Given the description of an element on the screen output the (x, y) to click on. 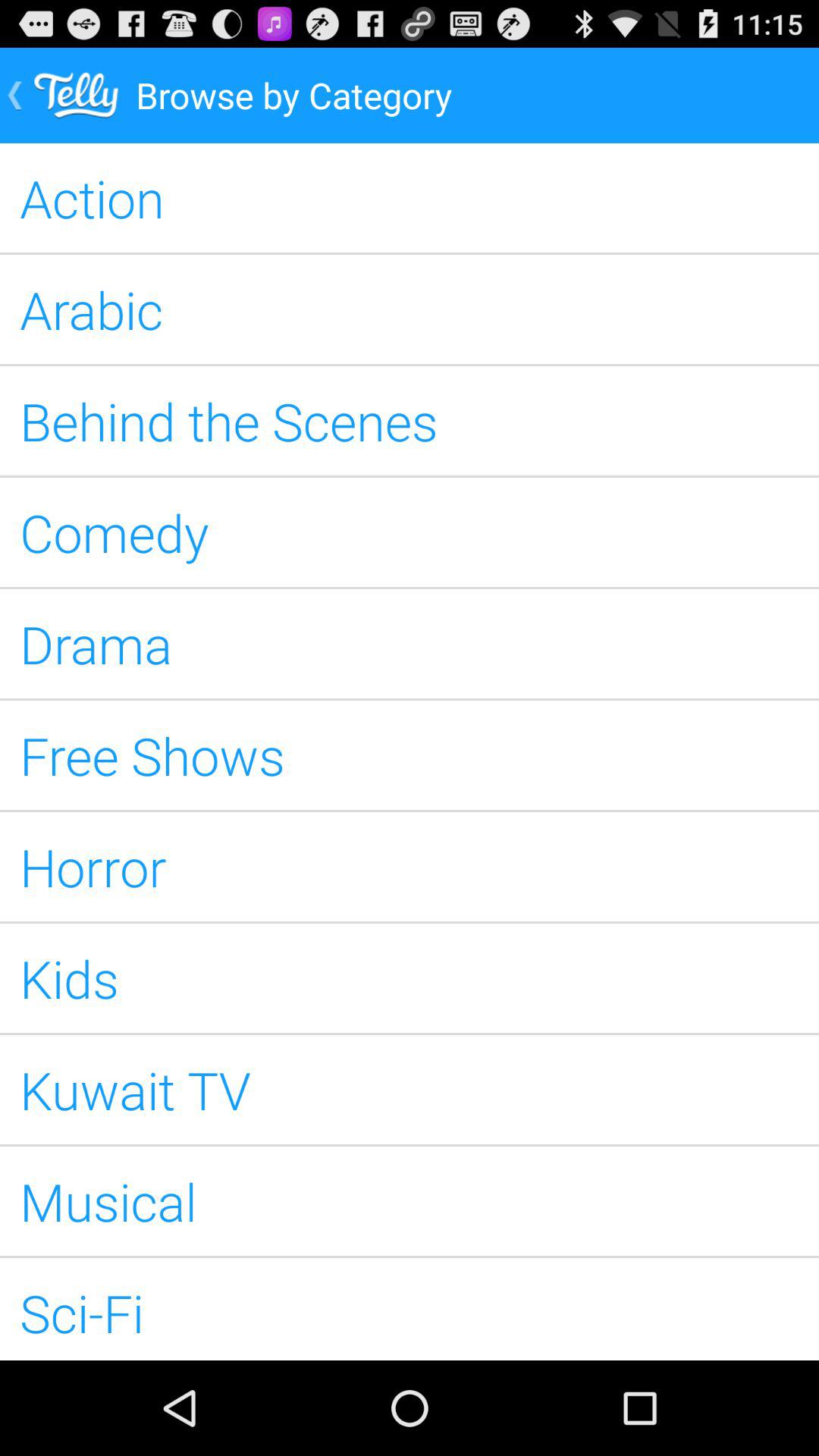
swipe to kids (409, 977)
